Given the description of an element on the screen output the (x, y) to click on. 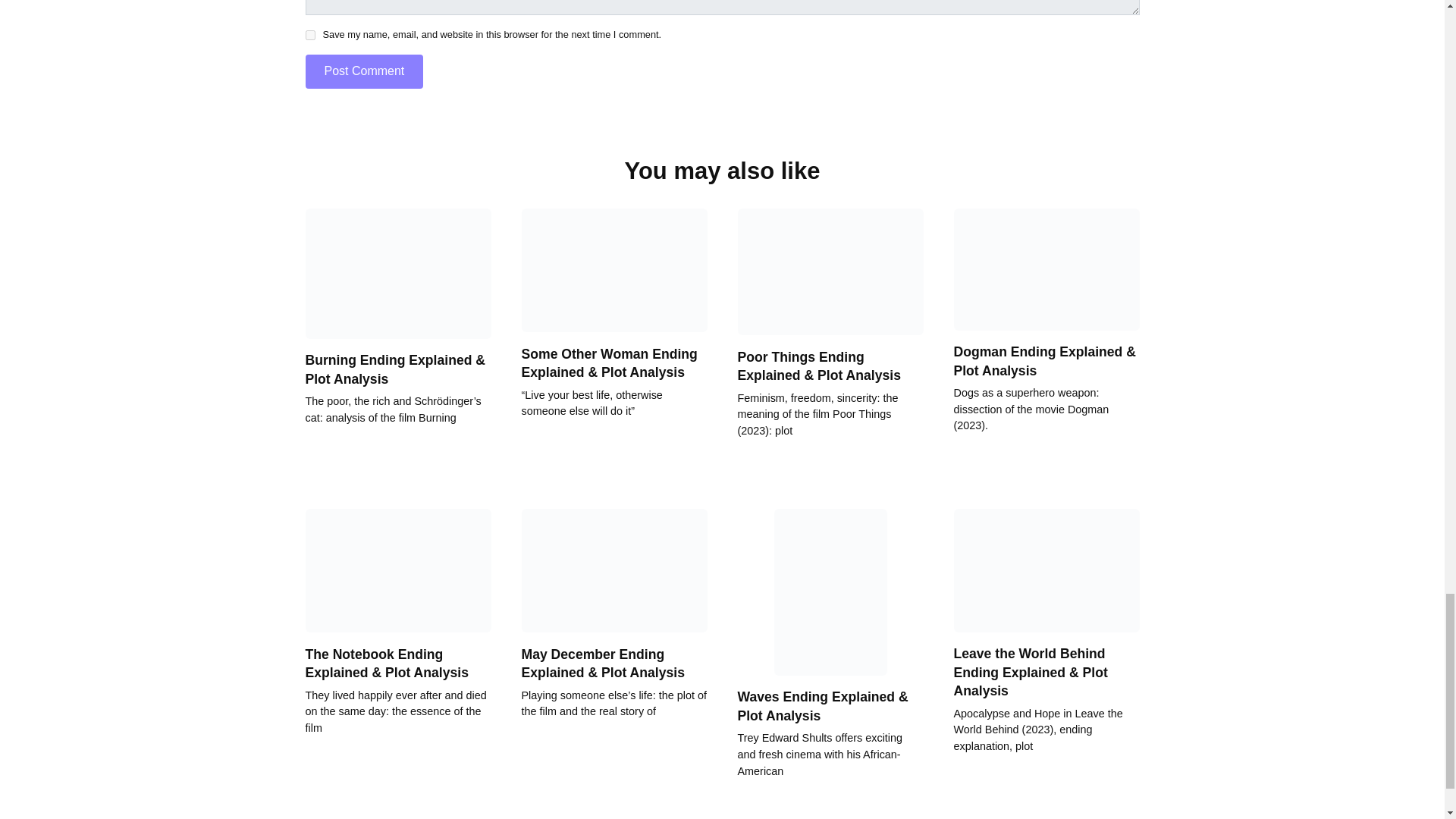
yes (309, 35)
Post Comment (363, 71)
Post Comment (363, 71)
